Given the description of an element on the screen output the (x, y) to click on. 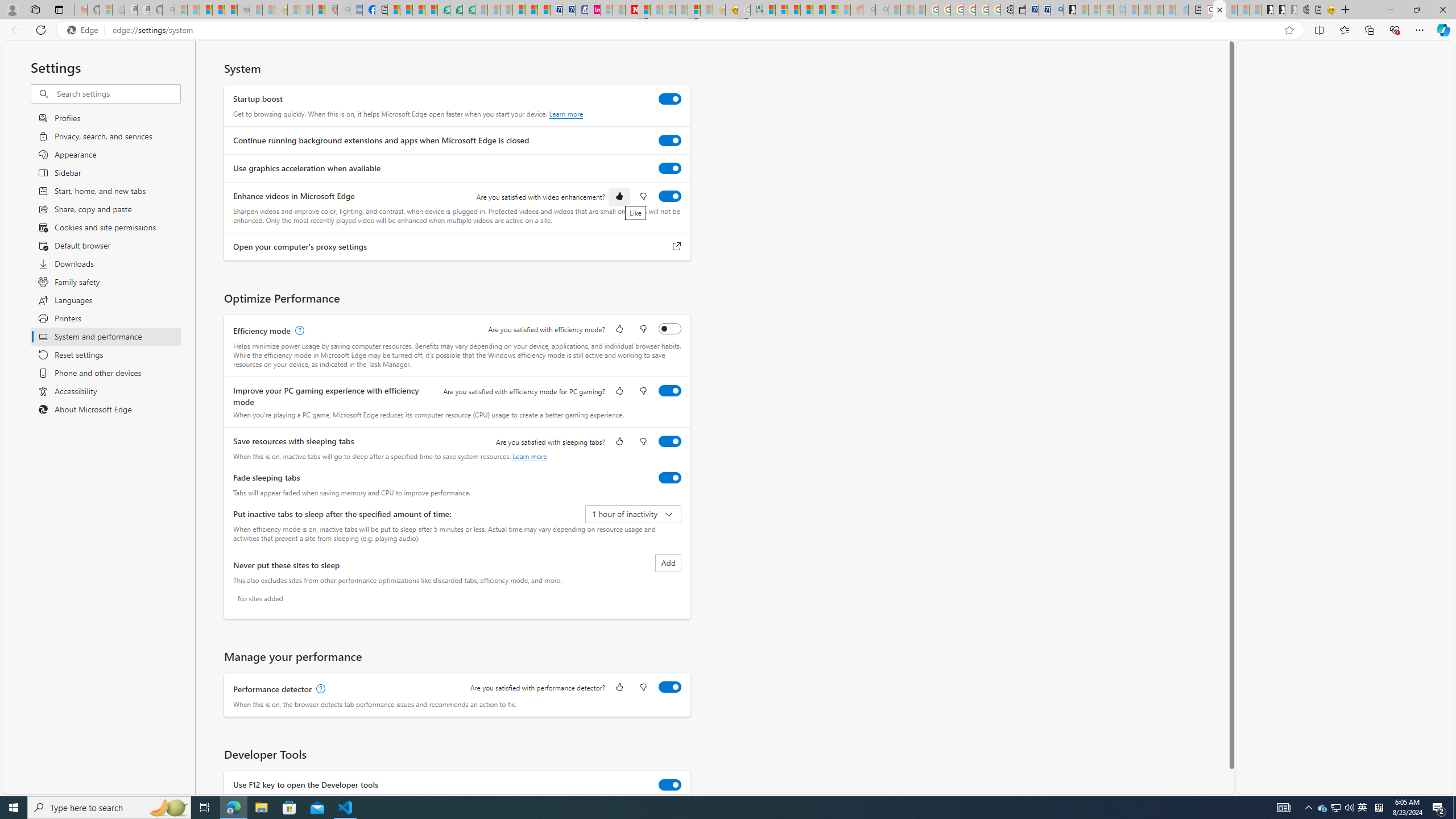
Fade sleeping tabs (669, 477)
Jobs - lastminute.com Investor Portal (593, 9)
Improve your PC gaming experience with efficiency mode (669, 390)
